Given the description of an element on the screen output the (x, y) to click on. 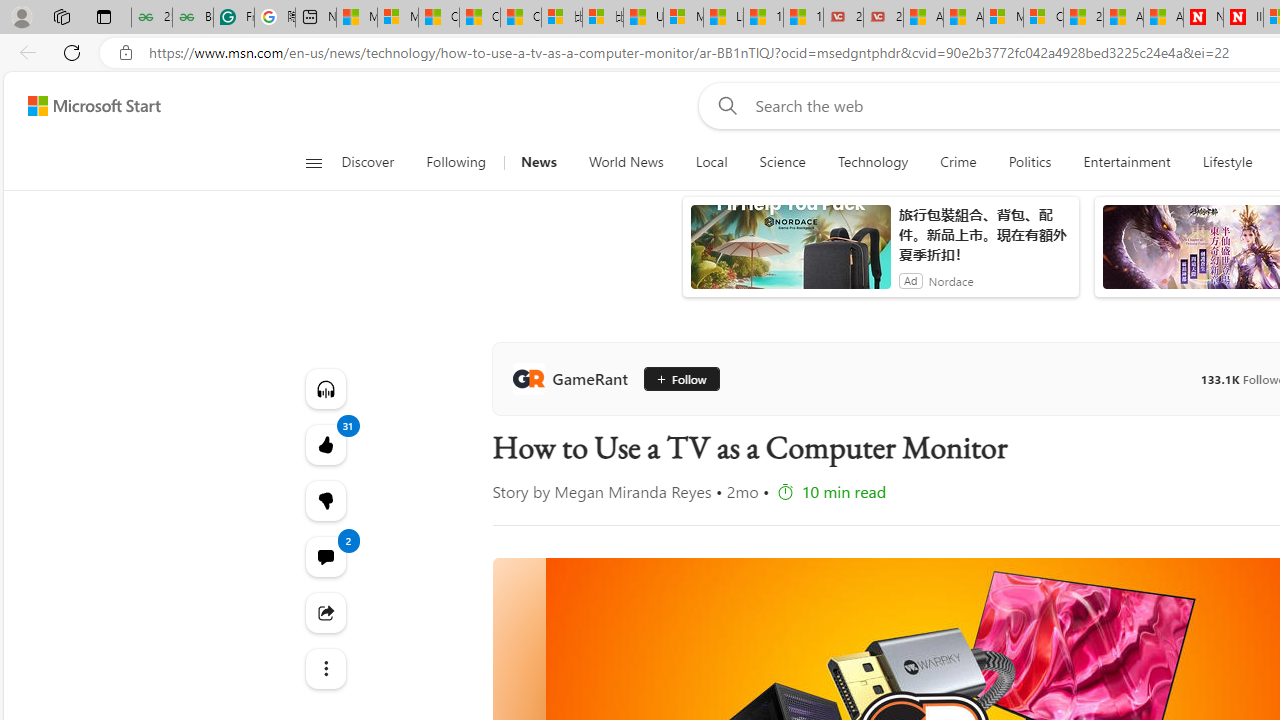
31 (324, 500)
Free AI Writing Assistance for Students | Grammarly (233, 17)
Politics (1029, 162)
Open navigation menu (313, 162)
